Given the description of an element on the screen output the (x, y) to click on. 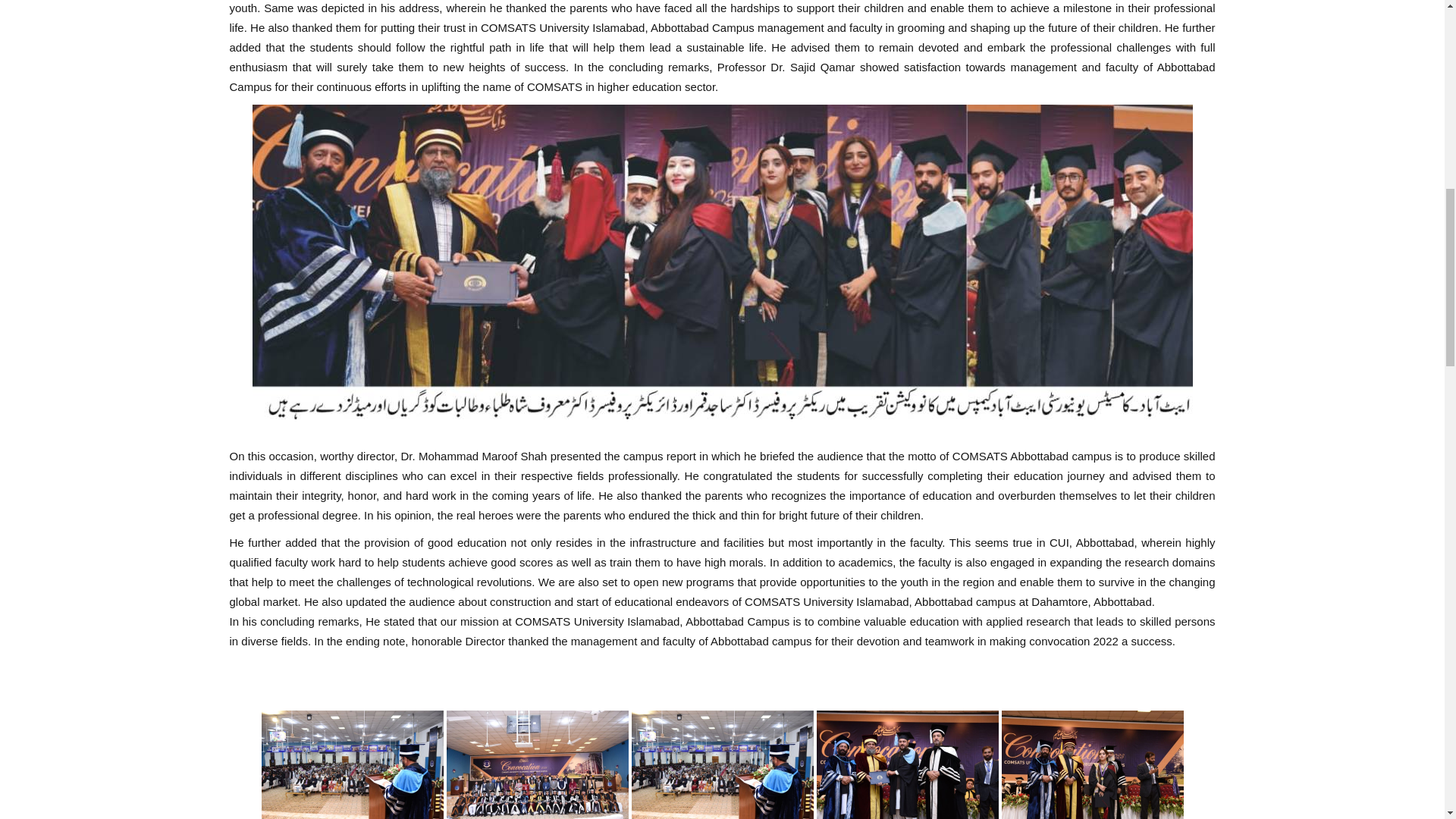
5 (351, 764)
2 (721, 764)
4 (906, 764)
6 (536, 764)
